Given the description of an element on the screen output the (x, y) to click on. 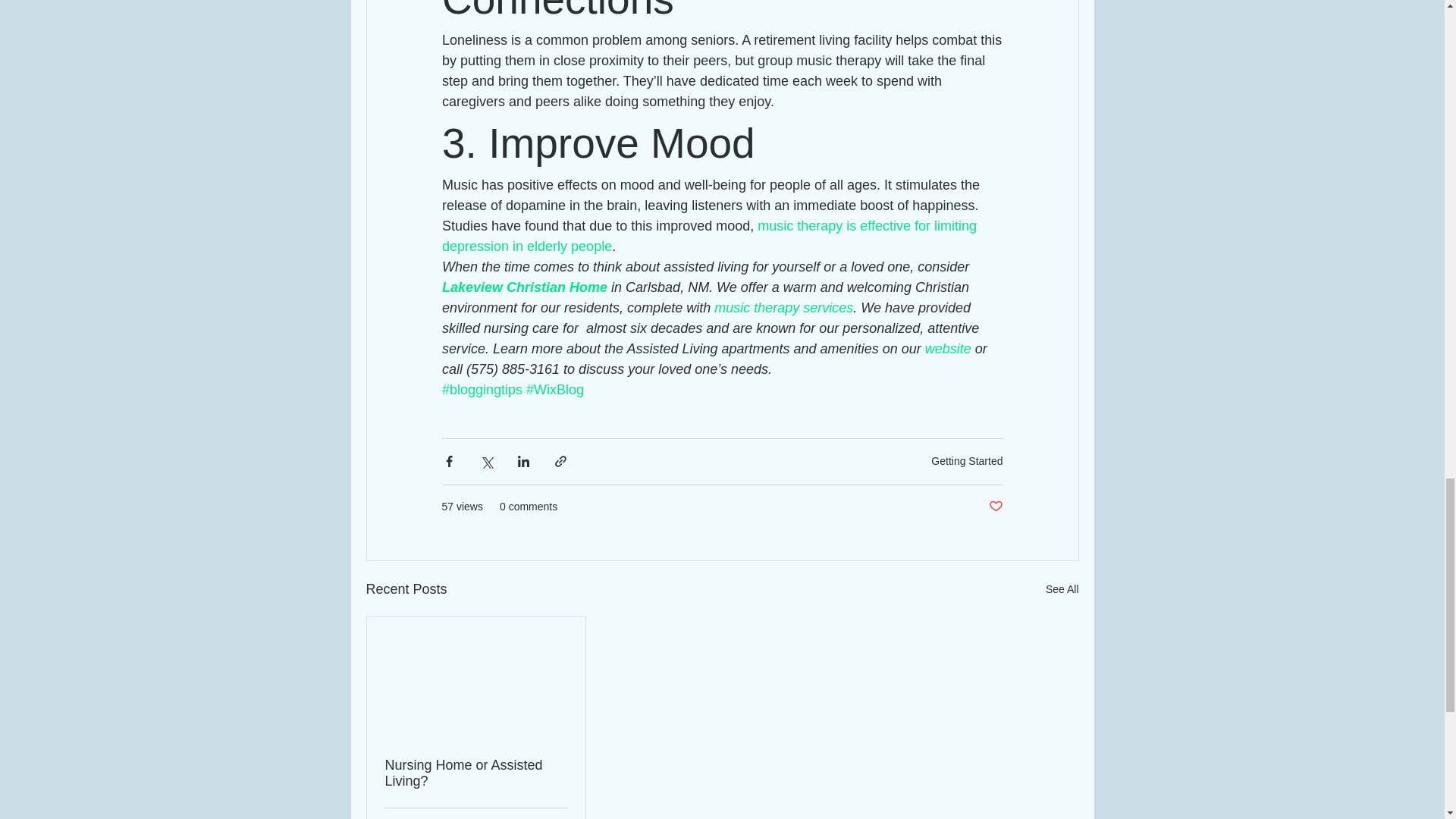
Post not marked as liked (995, 506)
website (947, 348)
Lakeview Christian Home (524, 286)
See All (1061, 588)
music therapy services (783, 307)
Getting Started (967, 460)
